Given the description of an element on the screen output the (x, y) to click on. 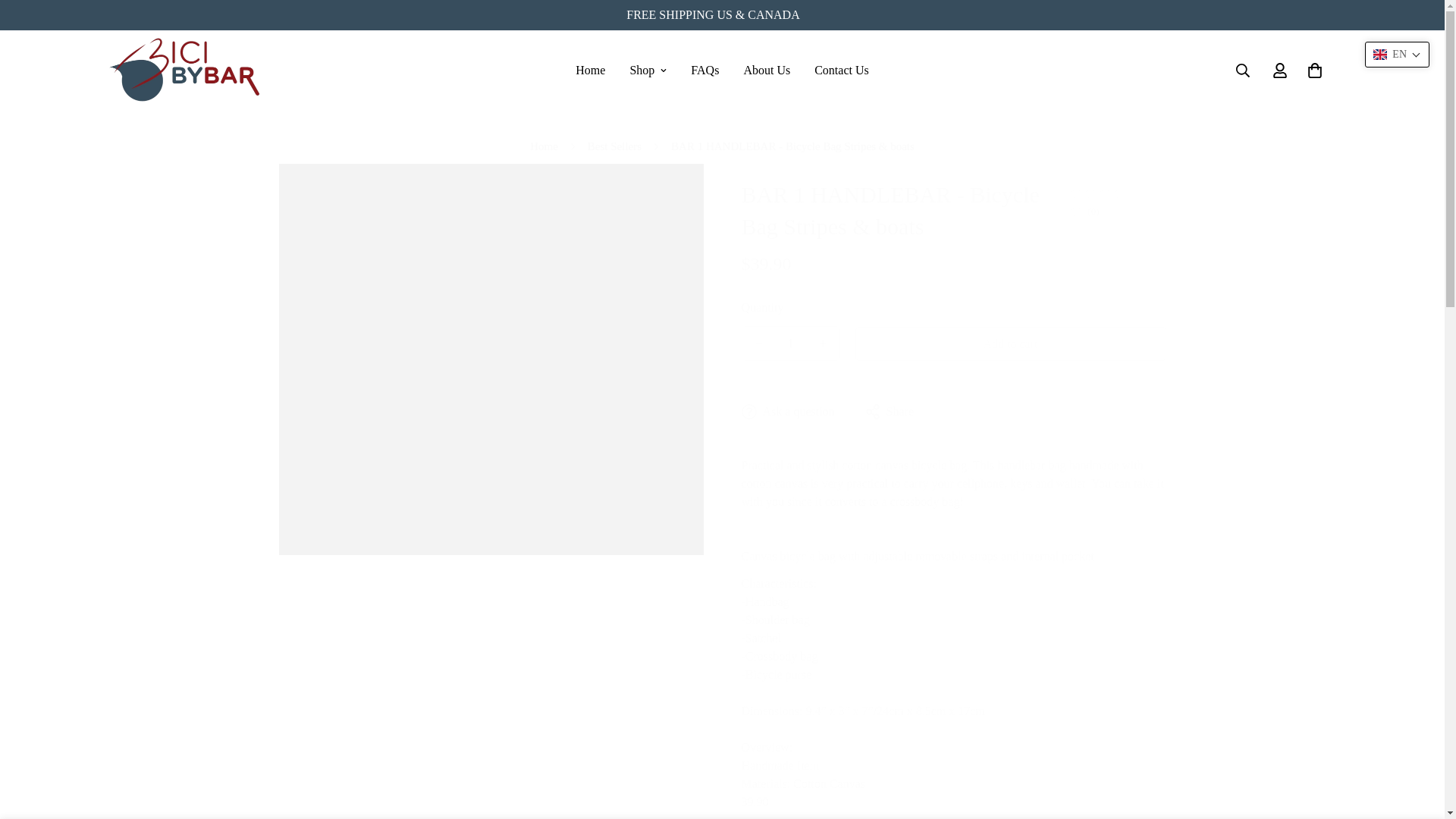
About Us (766, 70)
Bicibybar (183, 70)
Contact Us (841, 70)
FAQs (704, 70)
Best Sellers (614, 146)
Shop (647, 70)
Home (543, 146)
Ask a question (787, 411)
Back to the home page (543, 146)
Home (590, 70)
